Given the description of an element on the screen output the (x, y) to click on. 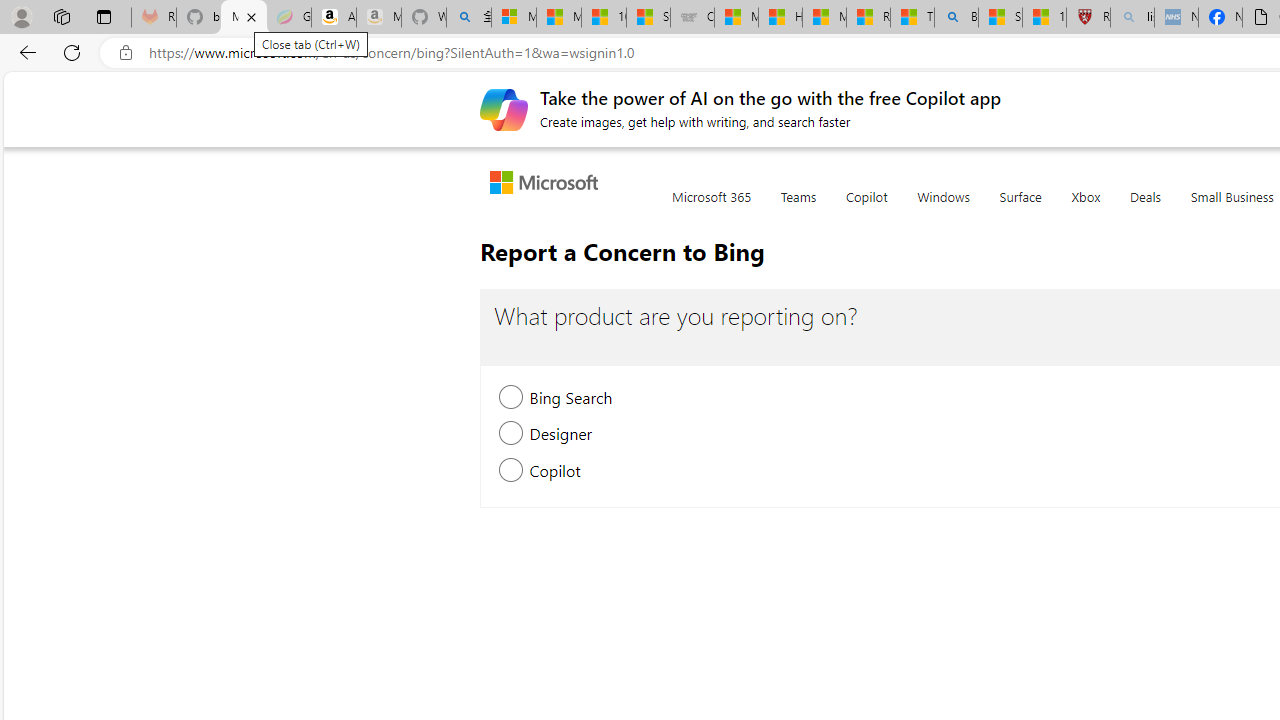
Copilot, new section will be expanded (511, 471)
12 Popular Science Lies that Must be Corrected (1044, 17)
Microsoft (548, 184)
Xbox (1085, 208)
Deals (1145, 207)
Teams (797, 208)
Copilot (866, 208)
Windows (943, 208)
